Given the description of an element on the screen output the (x, y) to click on. 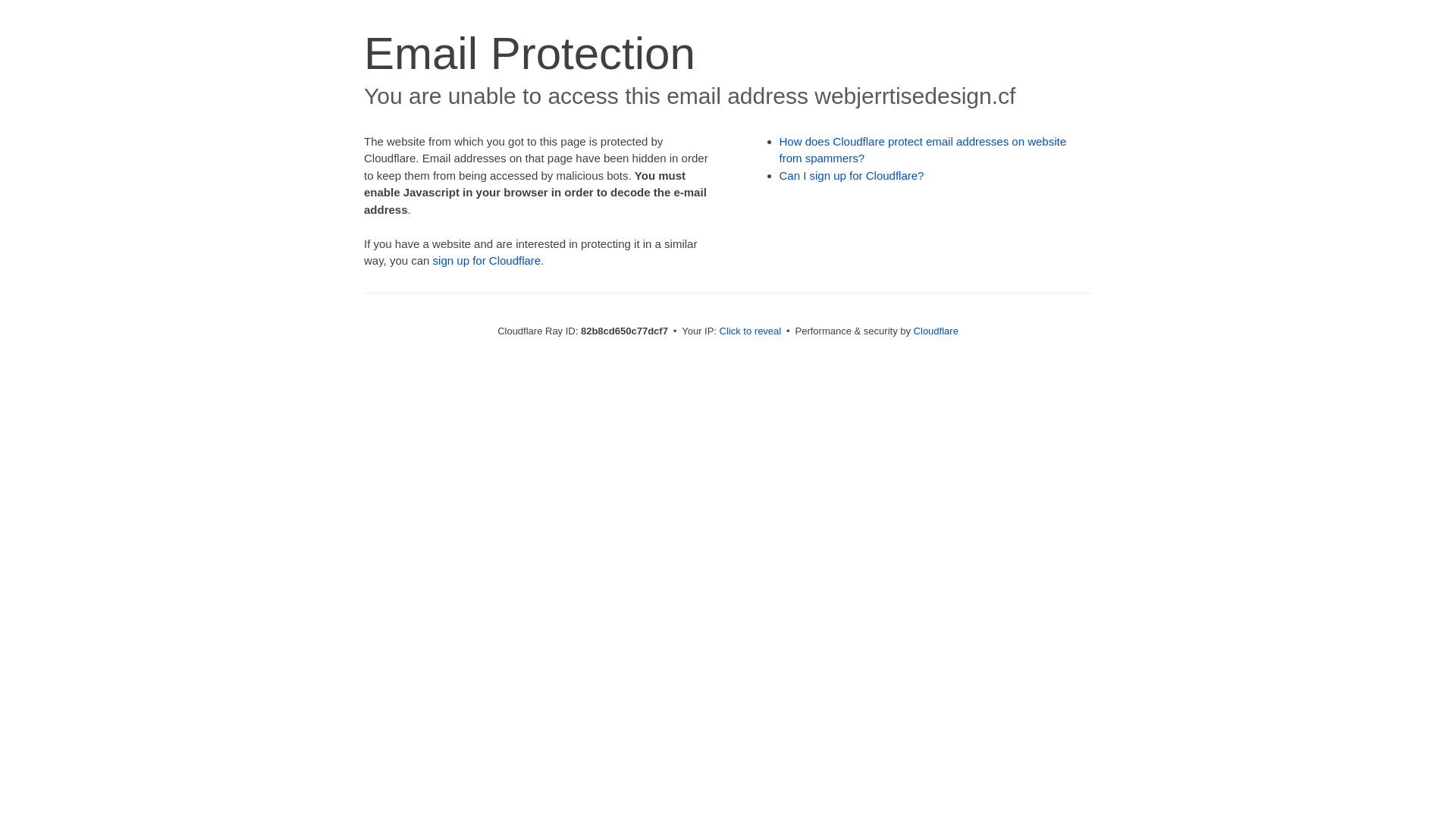
Cloudflare Element type: text (935, 330)
Click to reveal Element type: text (750, 330)
Can I sign up for Cloudflare? Element type: text (851, 175)
sign up for Cloudflare Element type: text (487, 260)
